Given the description of an element on the screen output the (x, y) to click on. 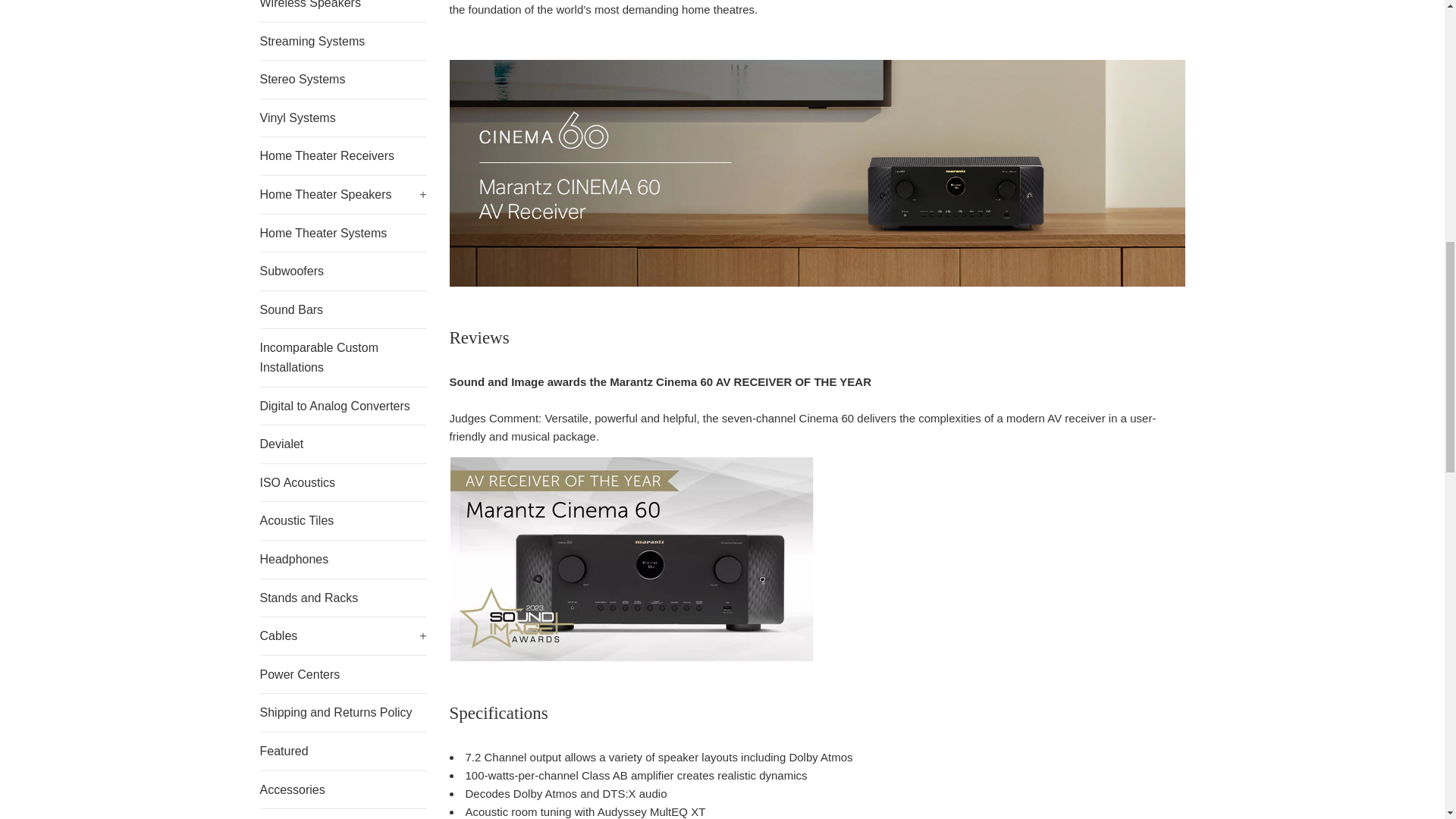
Incomparable Custom Installations (342, 357)
Devialet (342, 444)
ISO Acoustics (342, 483)
Acoustic Tiles (342, 520)
Subwoofers (342, 271)
Home Theater Systems (342, 233)
Digital to Analog Converters (342, 406)
Sound Bars (342, 310)
Wireless Speakers (342, 11)
Streaming Systems (342, 41)
